Given the description of an element on the screen output the (x, y) to click on. 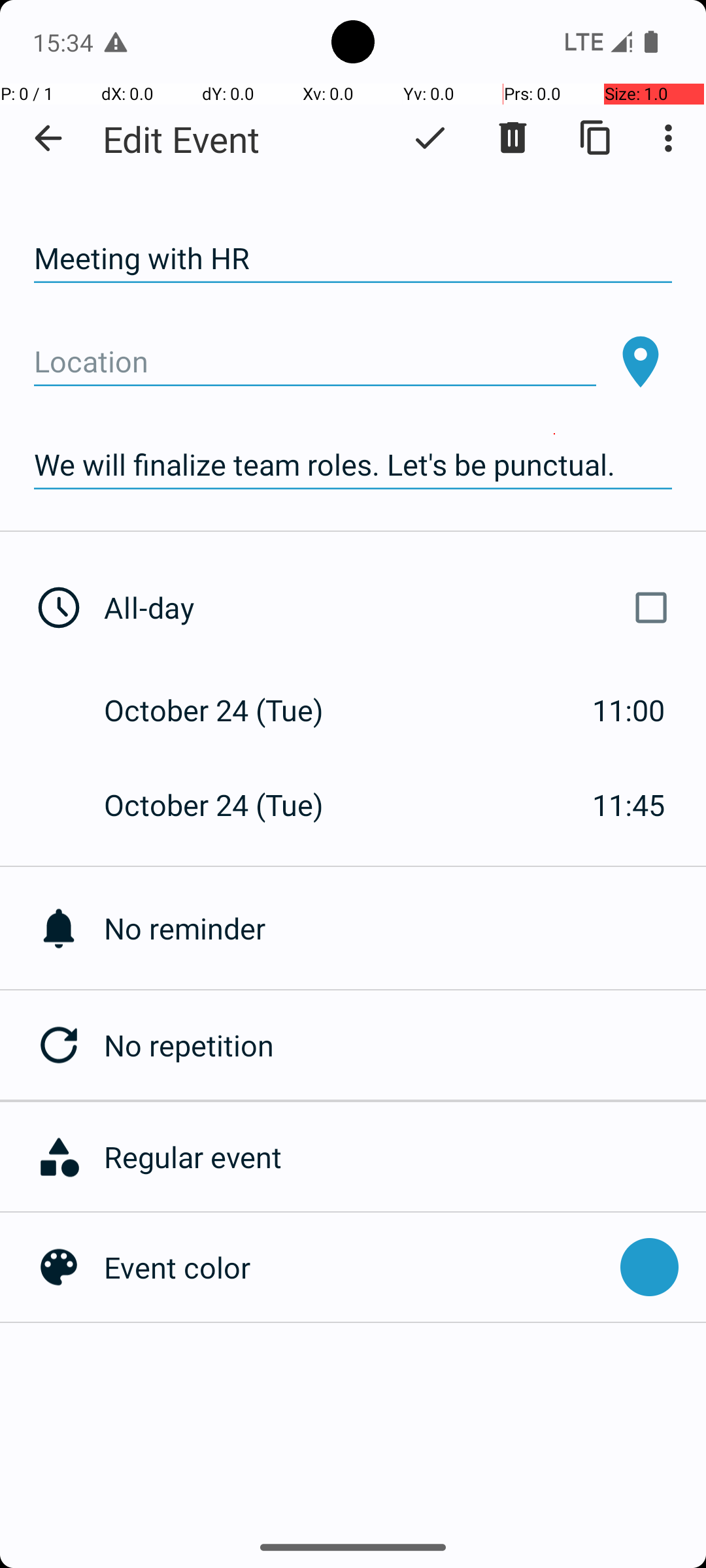
Edit Event Element type: android.widget.TextView (181, 138)
Duplicate event Element type: android.widget.Button (595, 137)
Meeting with HR Element type: android.widget.EditText (352, 258)
We will finalize team roles. Let's be punctual. Element type: android.widget.EditText (352, 465)
October 24 (Tue) Element type: android.widget.TextView (227, 709)
11:00 Element type: android.widget.TextView (628, 709)
11:45 Element type: android.widget.TextView (628, 804)
Event color Element type: android.widget.TextView (354, 1266)
